Given the description of an element on the screen output the (x, y) to click on. 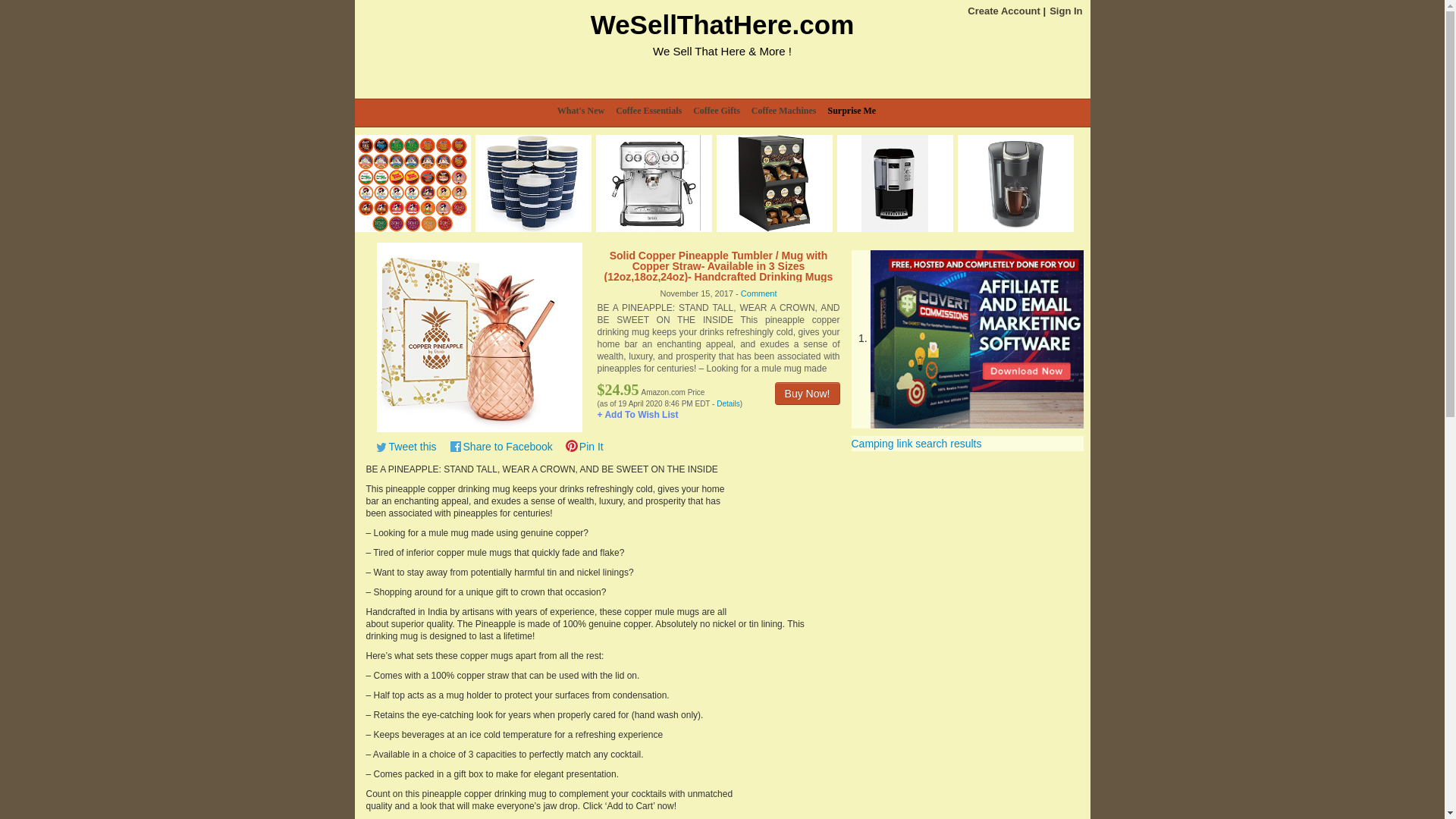
See What's New (586, 110)
Coffee Essentials (654, 110)
Sign In (1065, 10)
What's New (586, 110)
Coffee Gifts (722, 110)
Surprise Me (856, 110)
brim 19 Bar Espresso Maker (653, 183)
Tweet this (402, 445)
Coffee Machines (789, 110)
Comment (759, 293)
Coffee Gifts (722, 110)
Details (727, 403)
